Given the description of an element on the screen output the (x, y) to click on. 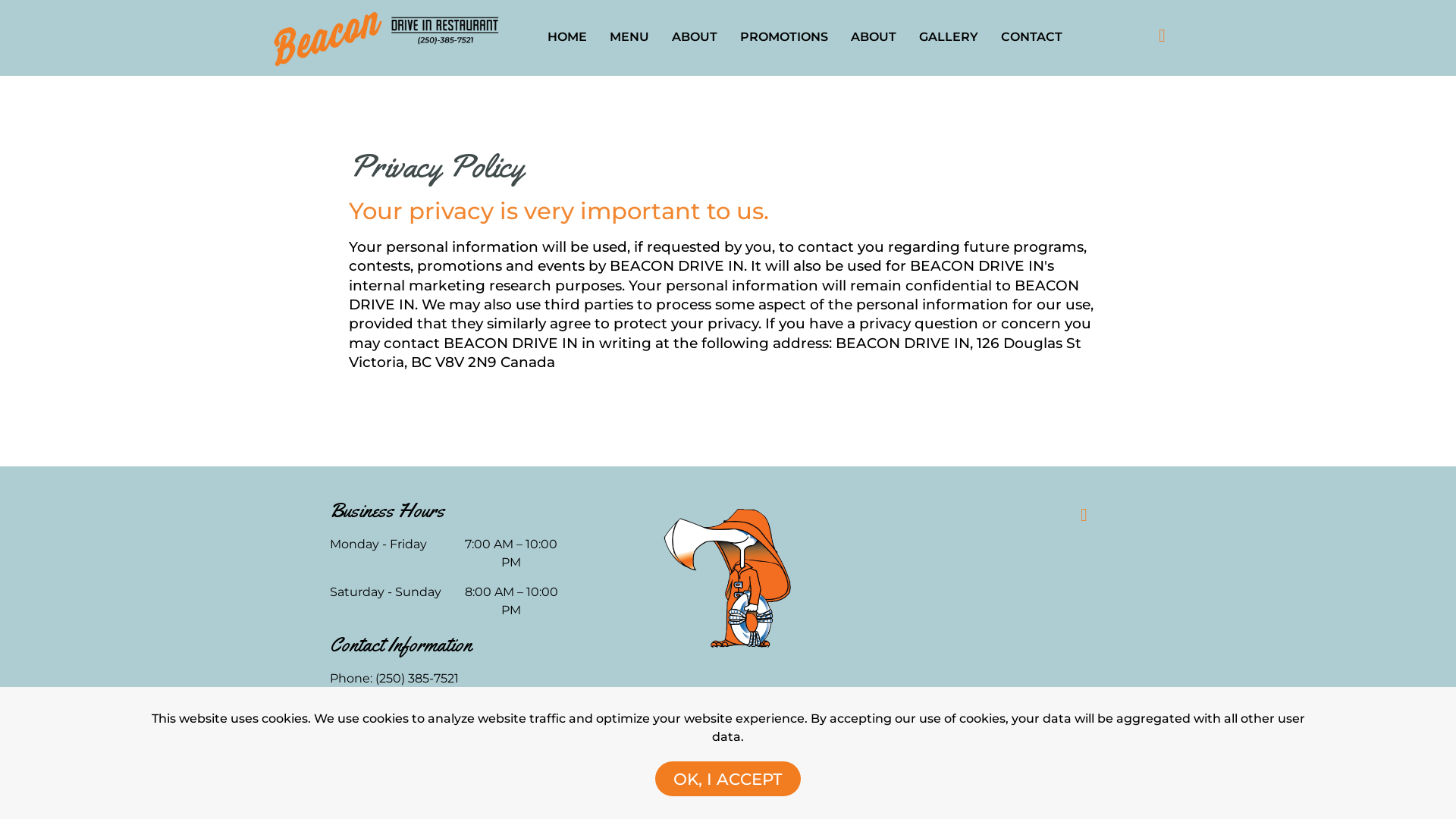
GALLERY Element type: text (948, 37)
MENU Element type: text (629, 37)
HOME Element type: text (567, 37)
ABOUT Element type: text (873, 37)
ABOUT Element type: text (694, 37)
PROMOTIONS Element type: text (783, 37)
Privacy Policy Element type: text (371, 755)
CONTACT Element type: text (1031, 37)
OK, I ACCEPT Element type: text (727, 778)
